Given the description of an element on the screen output the (x, y) to click on. 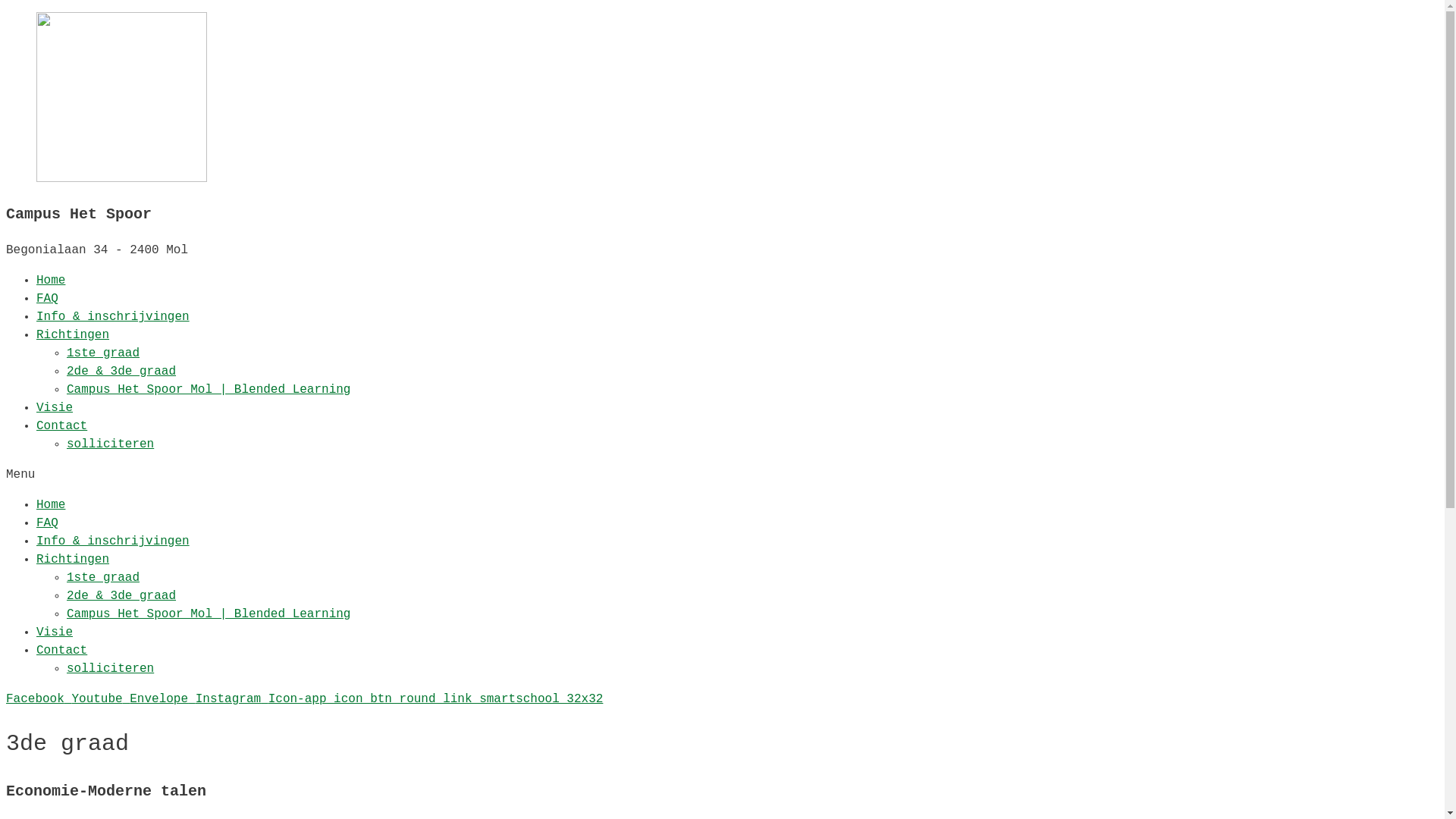
Home Element type: text (50, 504)
Contact Element type: text (61, 426)
solliciteren Element type: text (109, 444)
FAQ Element type: text (47, 298)
Facebook Element type: text (38, 699)
Campus Het Spoor Mol | Blended Learning Element type: text (208, 614)
Youtube Element type: text (100, 699)
Visie Element type: text (54, 407)
Contact Element type: text (61, 650)
Icon-app_icon_btn_round_link_smartschool_32x32 Element type: text (435, 699)
2de & 3de graad Element type: text (120, 595)
2de & 3de graad Element type: text (120, 371)
Info & inschrijvingen Element type: text (112, 316)
1ste graad Element type: text (102, 577)
Info & inschrijvingen Element type: text (112, 541)
Visie Element type: text (54, 632)
1ste graad Element type: text (102, 353)
Home Element type: text (50, 280)
Instagram Element type: text (231, 699)
Richtingen Element type: text (72, 335)
Campus Het Spoor Mol | Blended Learning Element type: text (208, 389)
Richtingen Element type: text (72, 559)
FAQ Element type: text (47, 523)
Envelope Element type: text (161, 699)
solliciteren Element type: text (109, 668)
